Given the description of an element on the screen output the (x, y) to click on. 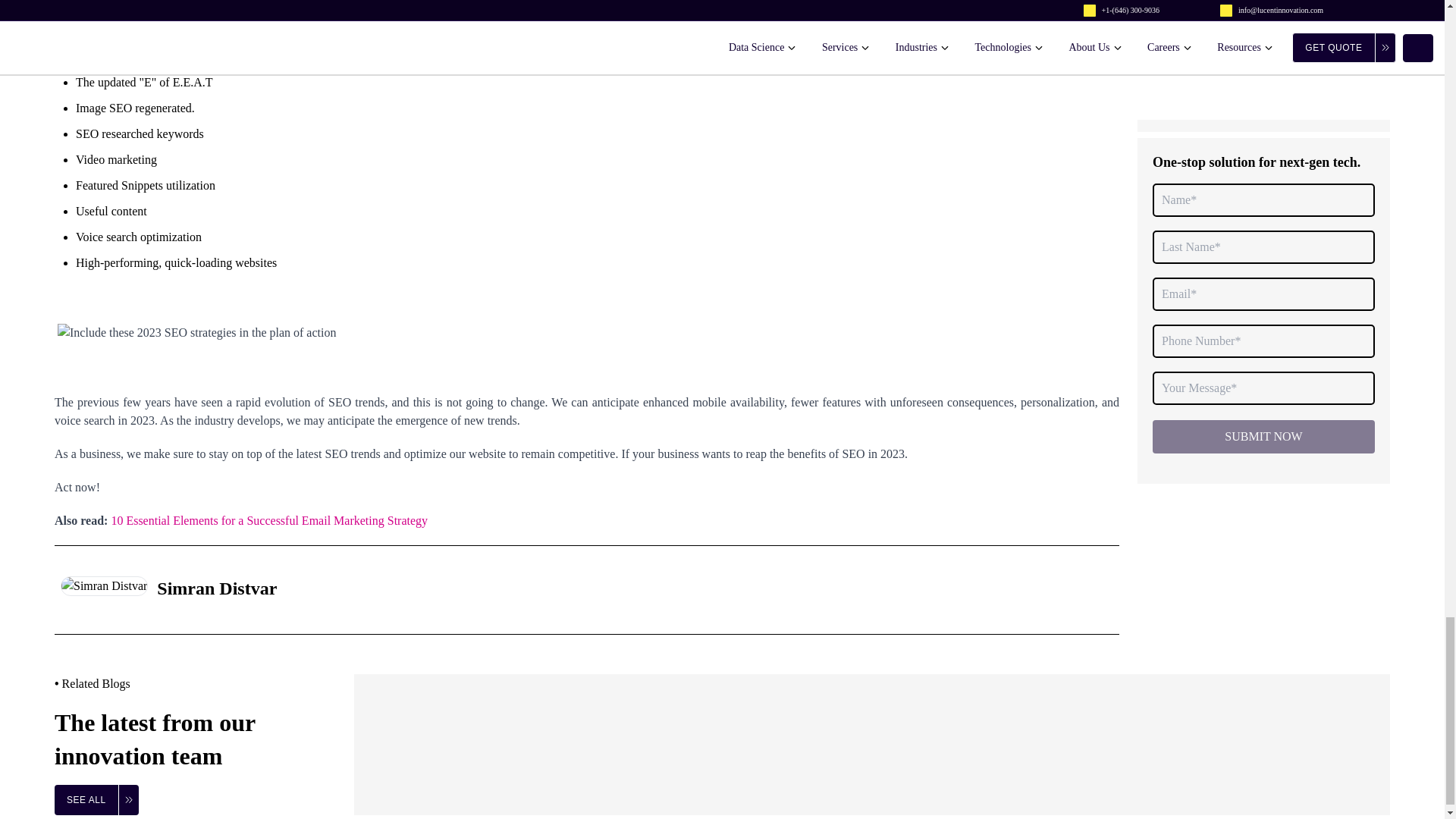
SEE ALL (96, 799)
